Given the description of an element on the screen output the (x, y) to click on. 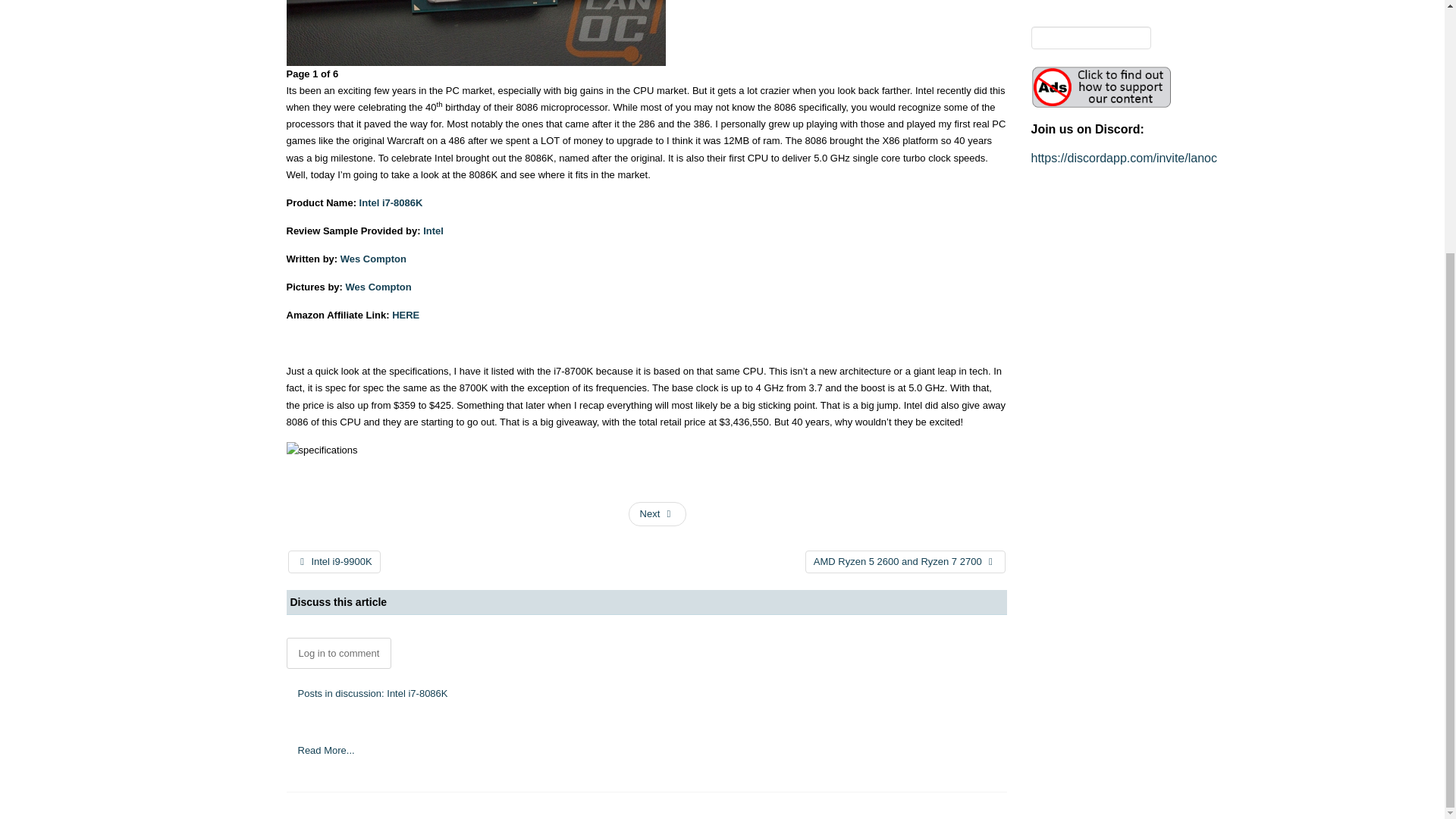
Test Rig and Procedures (657, 514)
AMD Ryzen 5 2600 and Ryzen 7 2700 (905, 561)
Intel i9-9900K (334, 561)
